Given the description of an element on the screen output the (x, y) to click on. 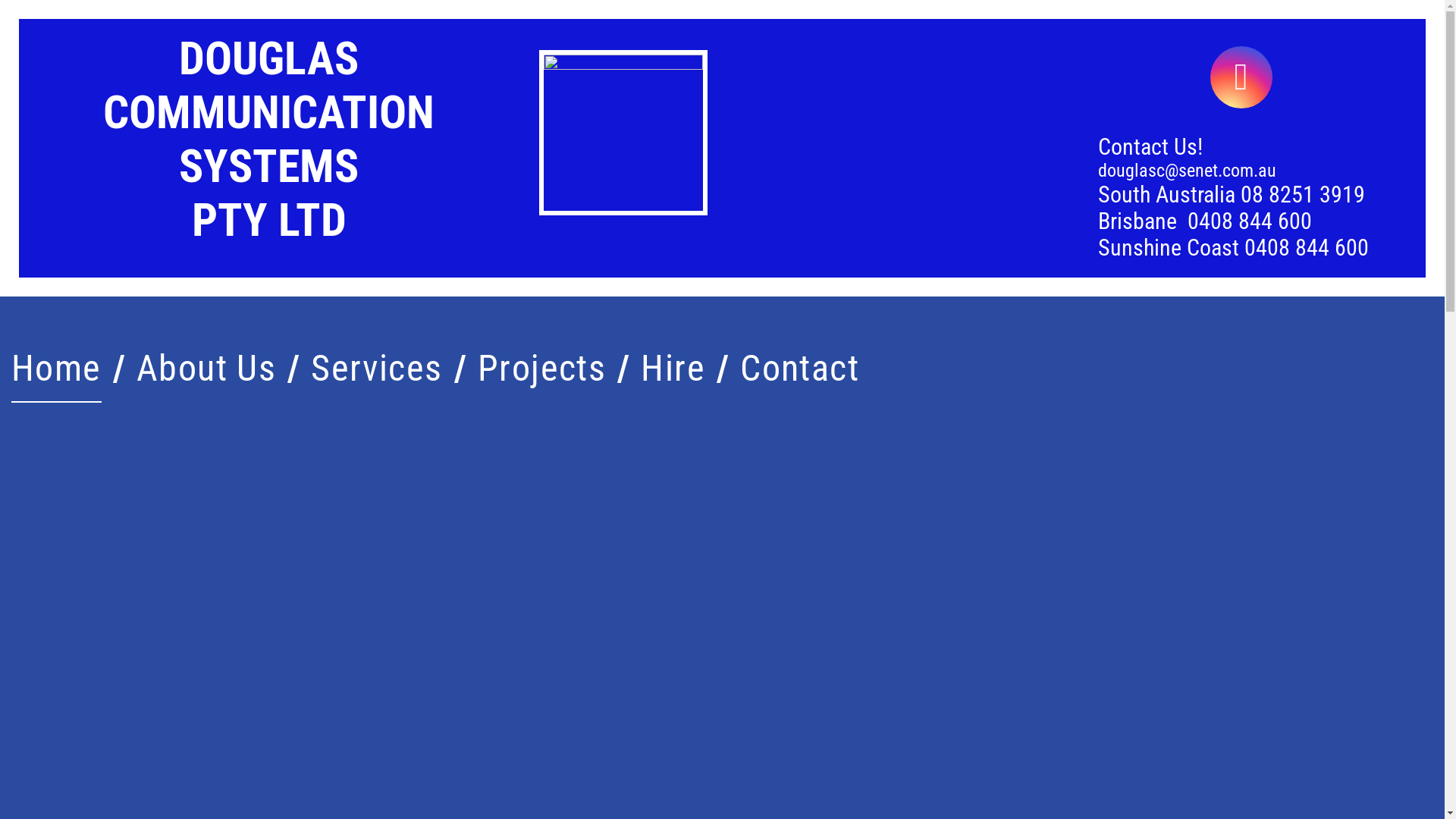
0408 844 600 Element type: text (1249, 220)
Hire Element type: text (672, 368)
Home Element type: text (56, 368)
Projects Element type: text (542, 368)
Services Element type: text (376, 368)
08 8251 3919 Element type: text (1302, 194)
ouglasc@senet.com.au Element type: text (1191, 170)
Contact Element type: text (799, 368)
About Us Element type: text (206, 368)
